Given the description of an element on the screen output the (x, y) to click on. 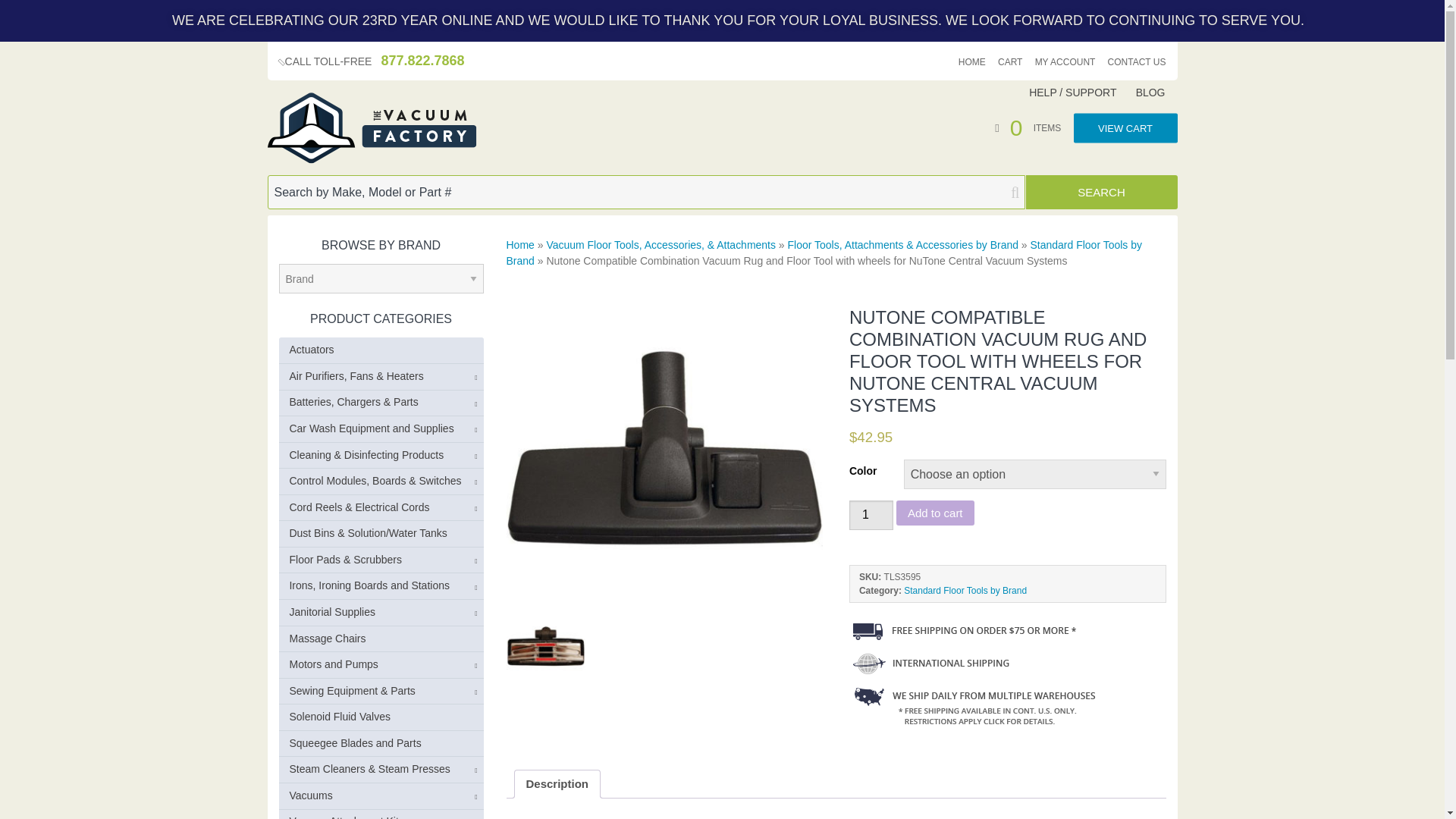
CONTACT US (1137, 62)
1 (870, 514)
View Cart (1033, 125)
HOME (971, 62)
AT110-5.jpg (665, 448)
MY ACCOUNT (1065, 62)
Search (1100, 192)
Visit Home Page (371, 127)
AT110-4.jpg (545, 646)
Search (1100, 192)
CART (1009, 62)
View Cart (1125, 127)
